Given the description of an element on the screen output the (x, y) to click on. 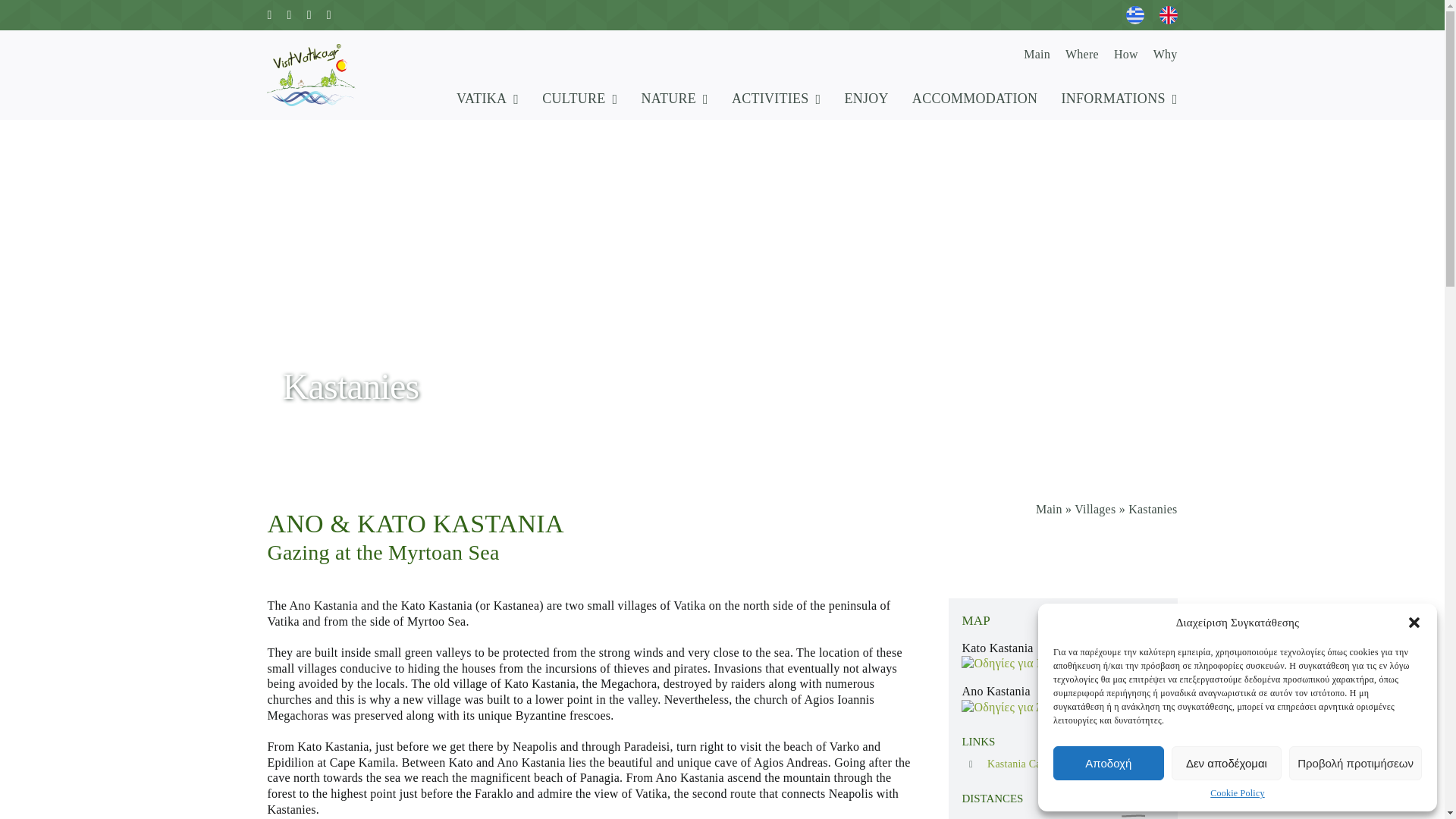
Where (1082, 54)
Main (1036, 54)
Cookie Policy (1236, 793)
How (1125, 54)
Why (1165, 54)
VATIKA (487, 98)
CULTURE (579, 98)
